Given the description of an element on the screen output the (x, y) to click on. 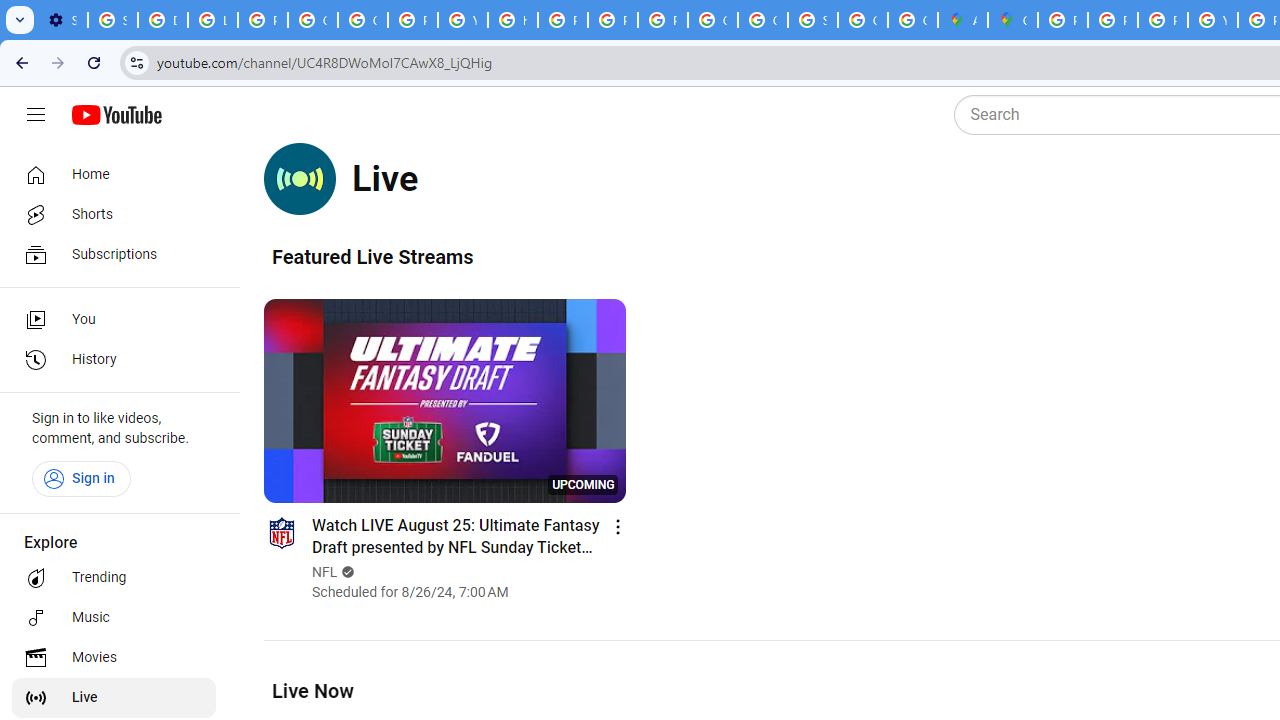
Delete photos & videos - Computer - Google Photos Help (163, 20)
Settings - On startup (62, 20)
Trending (113, 578)
Verified (345, 572)
NFL (325, 572)
Live (113, 697)
Privacy Help Center - Policies Help (562, 20)
Privacy Help Center - Policies Help (1162, 20)
Shorts (113, 214)
